Given the description of an element on the screen output the (x, y) to click on. 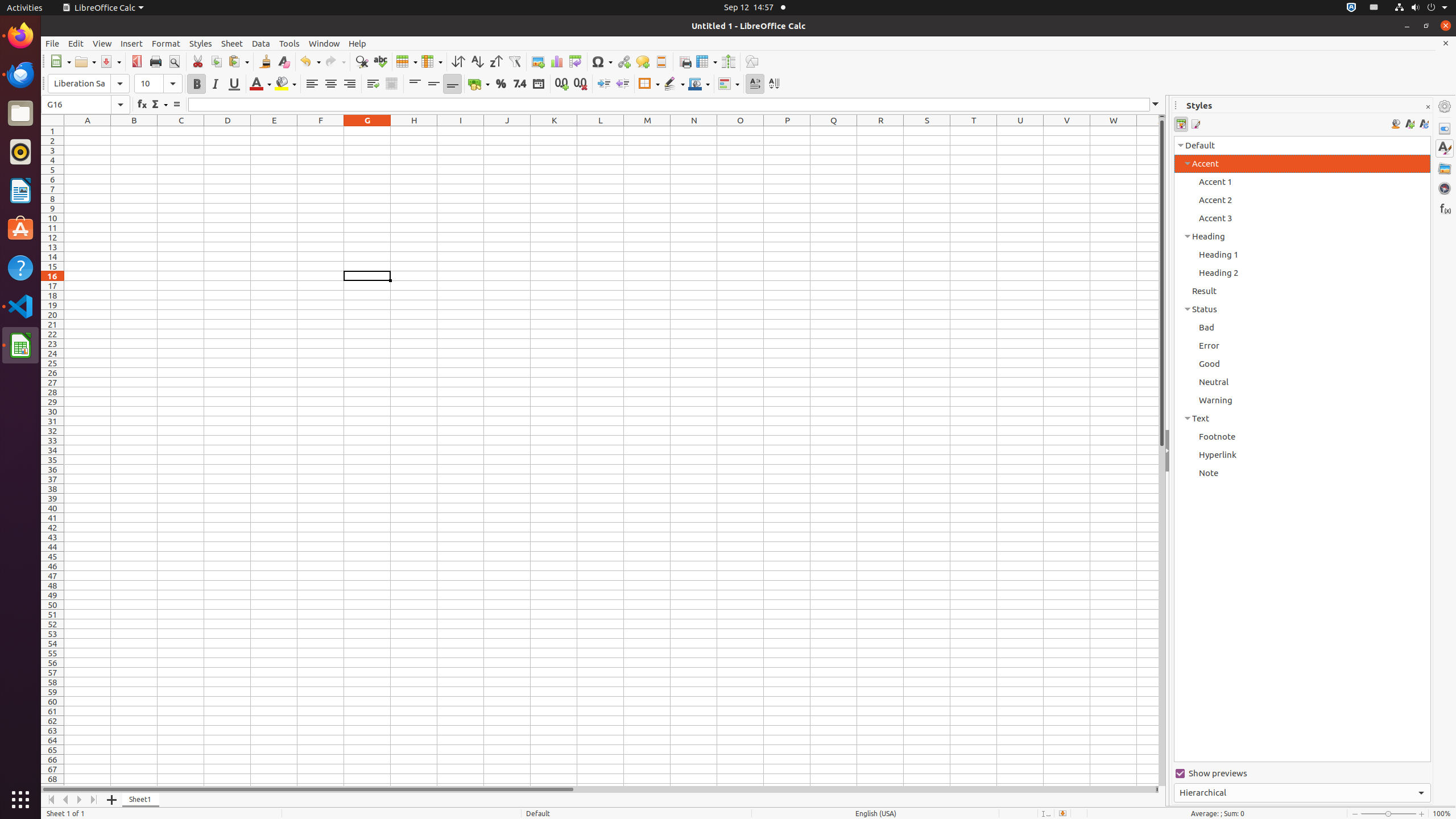
Formula Element type: push-button (176, 104)
A1 Element type: table-cell (87, 130)
Comment Element type: push-button (642, 61)
Font Name Element type: combo-box (88, 83)
Font Color Element type: push-button (260, 83)
